Given the description of an element on the screen output the (x, y) to click on. 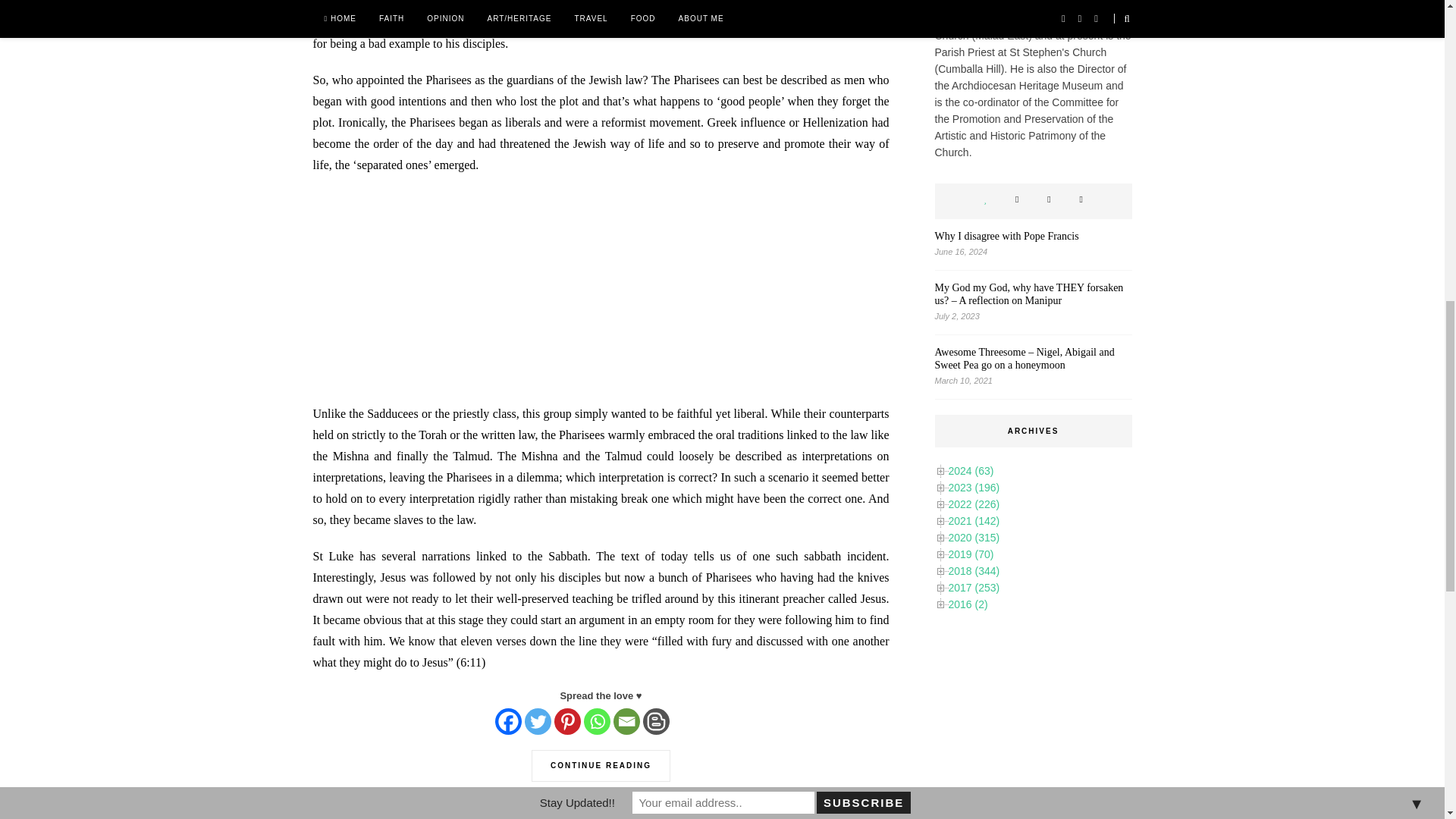
Facebook (508, 721)
CONTINUE READING (600, 760)
Blogger Post (656, 721)
9 Comments (340, 816)
Twitter (537, 721)
Email (625, 721)
Whatsapp (596, 721)
Advertisement (1032, 244)
Pinterest (600, 296)
